Given the description of an element on the screen output the (x, y) to click on. 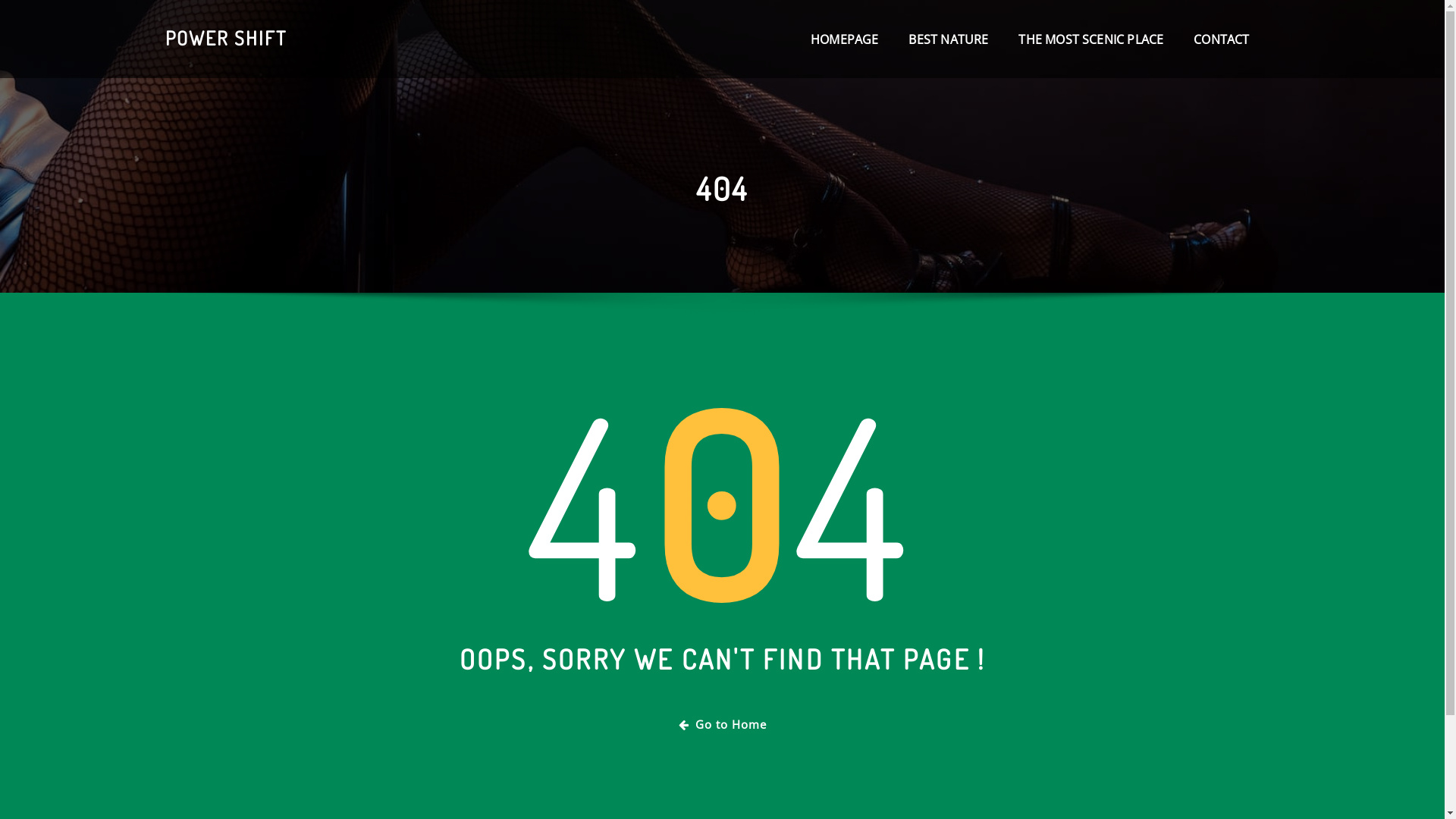
THE MOST SCENIC PLACE Element type: text (1090, 39)
CONTACT Element type: text (1221, 39)
Go to Home Element type: text (721, 724)
BEST NATURE Element type: text (948, 39)
POWER SHIFT Element type: text (225, 37)
HOMEPAGE Element type: text (844, 39)
